Given the description of an element on the screen output the (x, y) to click on. 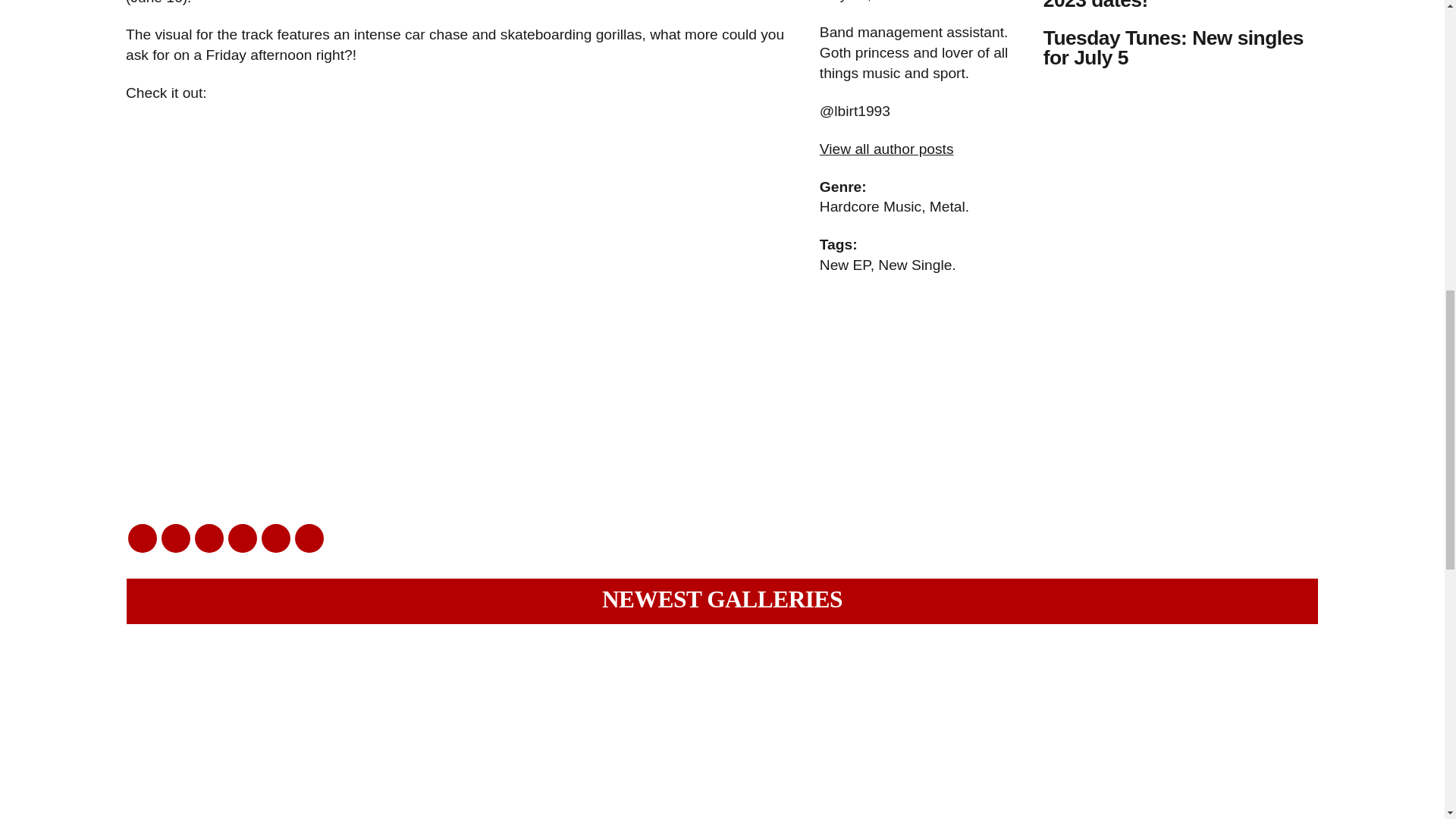
View all author posts (886, 148)
View all author posts (886, 148)
Search (94, 4)
New EP (844, 264)
Hardcore Music (870, 206)
New Single (914, 264)
Metal (947, 206)
